Given the description of an element on the screen output the (x, y) to click on. 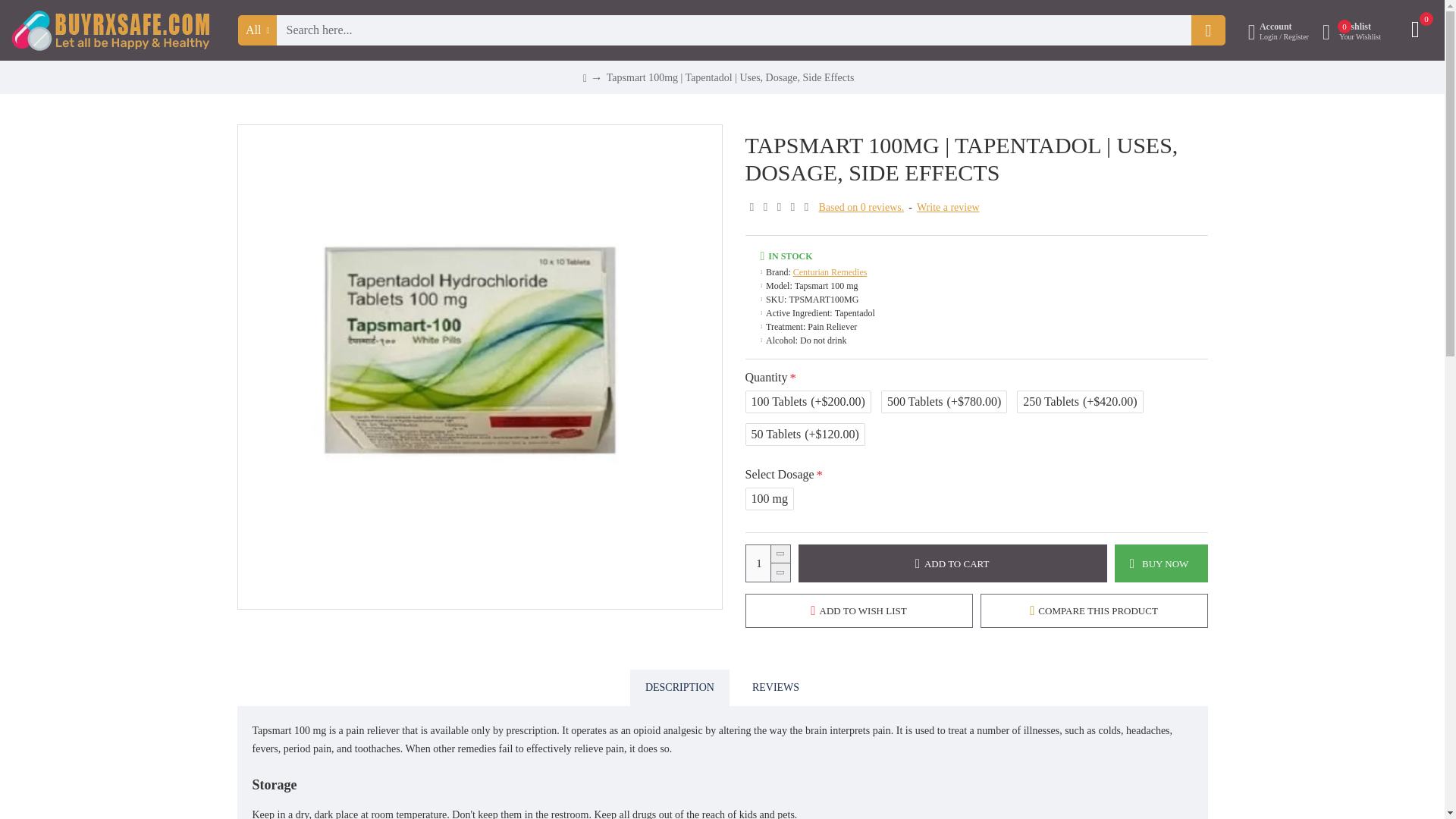
BUYRXSAFE (111, 30)
1 (767, 563)
